Given the description of an element on the screen output the (x, y) to click on. 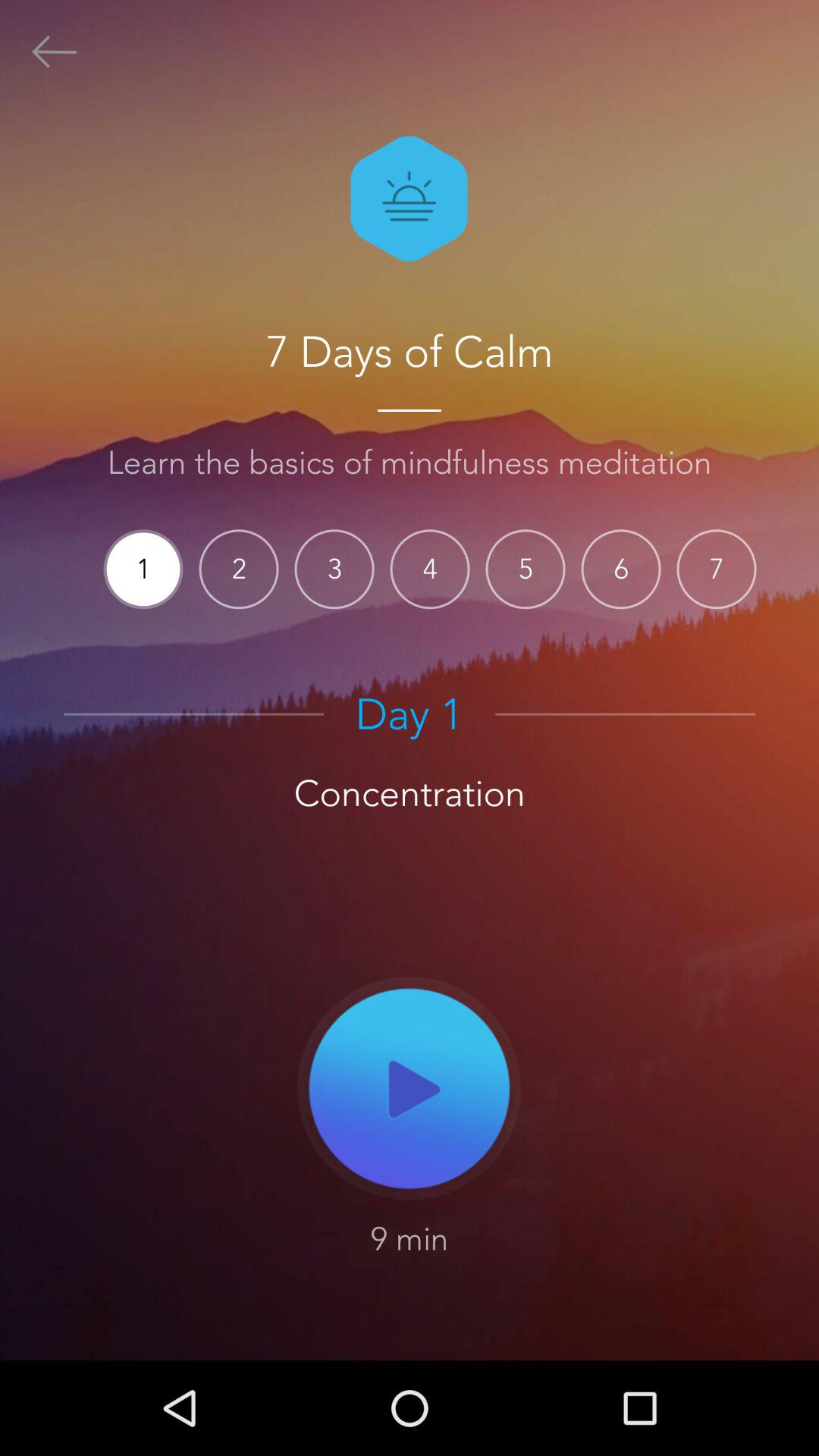
tap item below concentration (409, 1087)
